Given the description of an element on the screen output the (x, y) to click on. 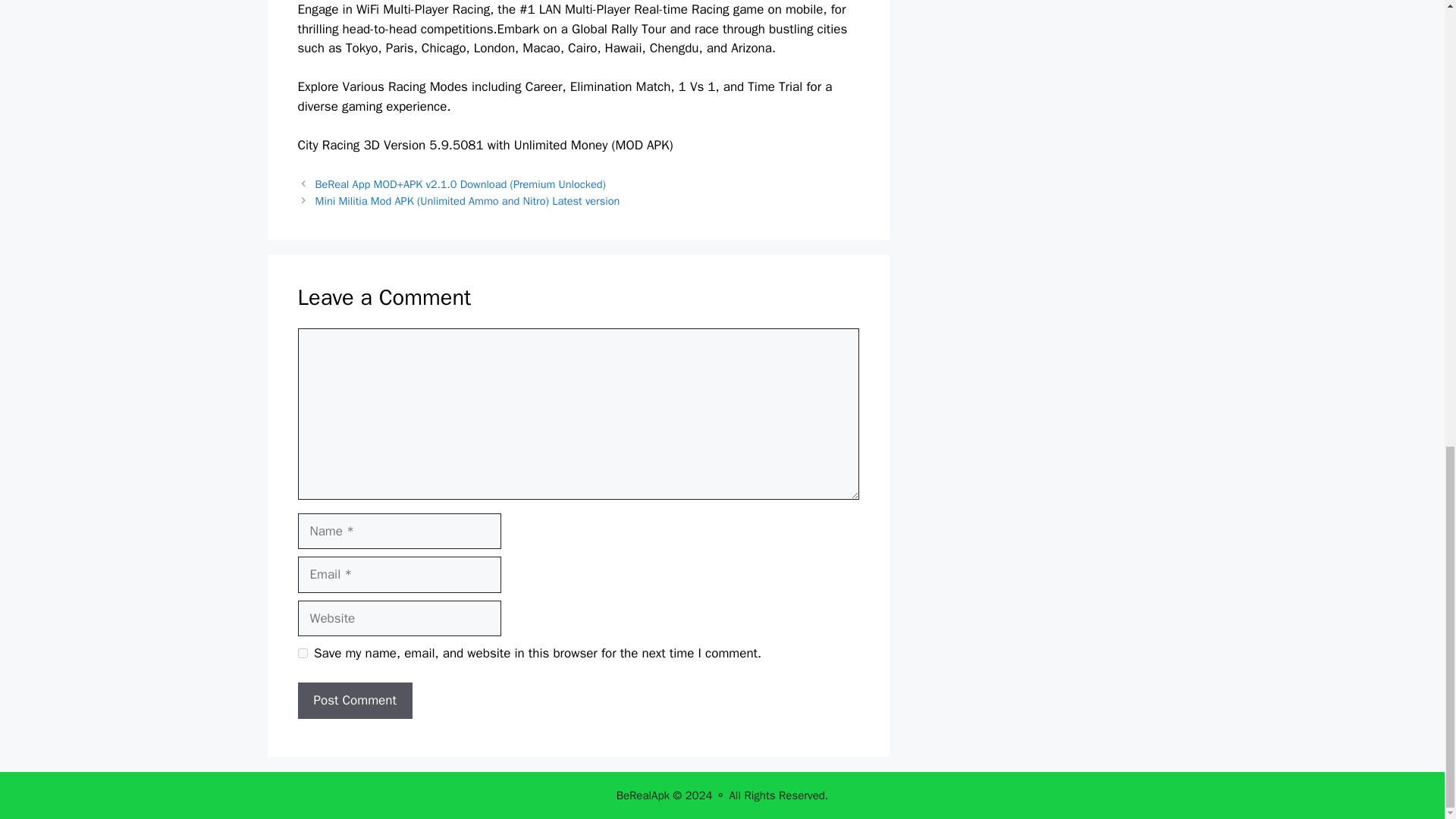
Post Comment (354, 700)
Scroll back to top (1406, 552)
yes (302, 653)
Post Comment (354, 700)
